Given the description of an element on the screen output the (x, y) to click on. 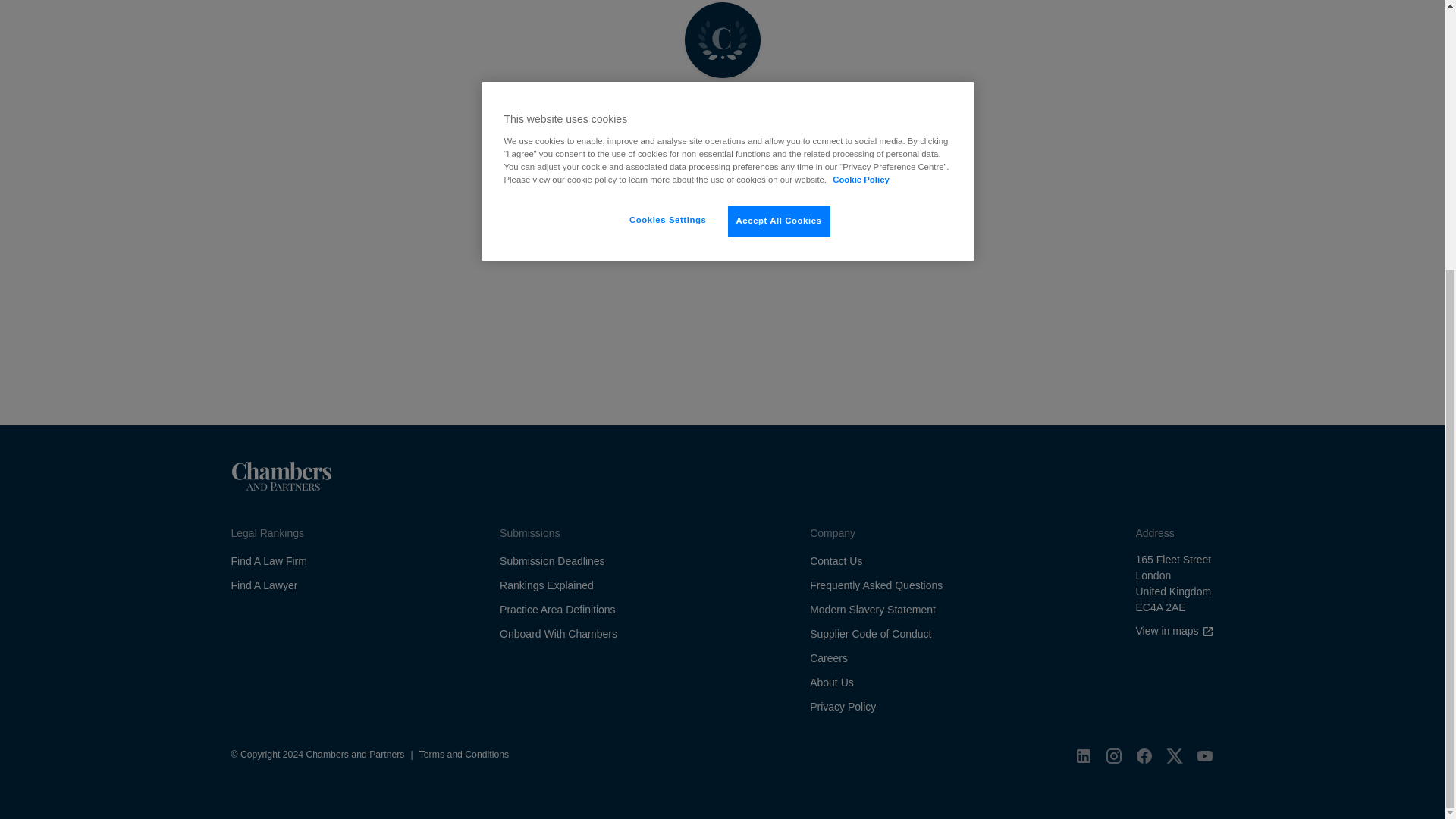
Link to Onboard With Chambers (558, 633)
Link to Practice Area Definitions (557, 609)
Link to Contact Us (835, 561)
Link to About Us (831, 682)
Link to Chambers X (1173, 754)
Link to Modern Slavery Statement (872, 609)
Link to Find A Law Firm (267, 561)
Link to Terms and Conditions (463, 754)
Link to Rankings Explained (546, 585)
Link to Chambers Youtube (1203, 754)
